Given the description of an element on the screen output the (x, y) to click on. 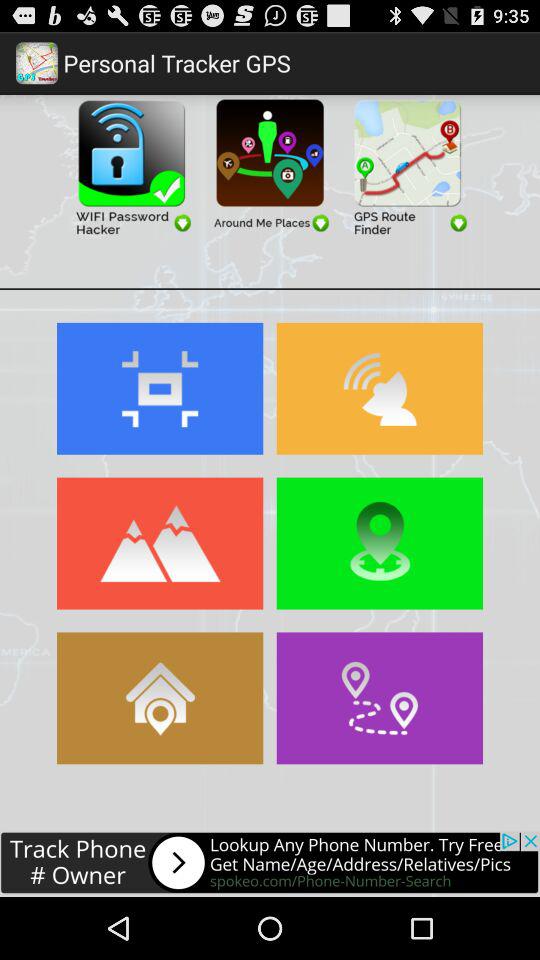
toggle wifi password hacker app (131, 165)
